Given the description of an element on the screen output the (x, y) to click on. 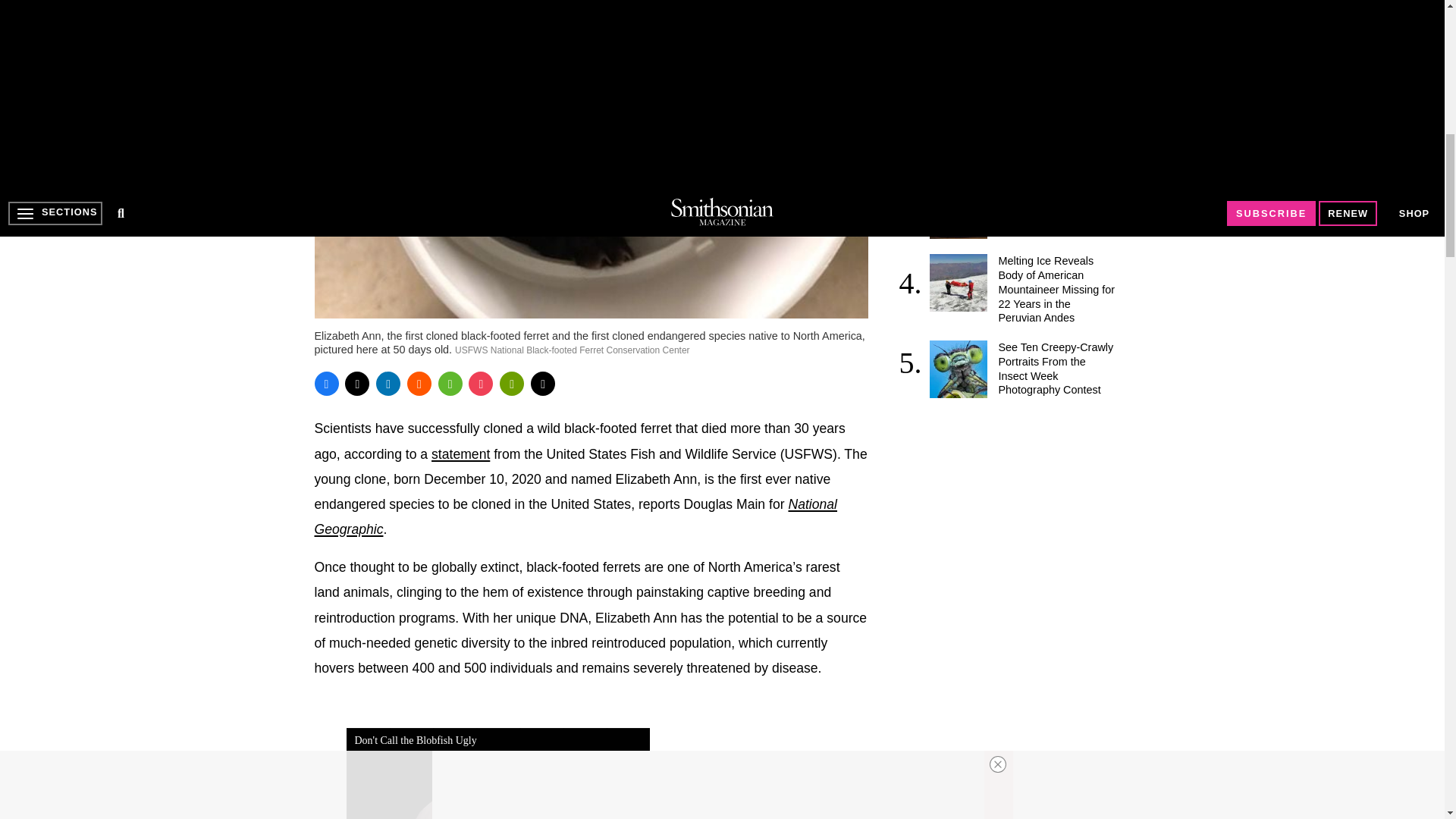
Twitter (357, 383)
3rd party ad content (1015, 511)
LinkedIn (387, 383)
Pocket (480, 383)
Reddit (418, 383)
WhatsApp (450, 383)
Email (542, 383)
Print (511, 383)
Facebook (325, 383)
